Given the description of an element on the screen output the (x, y) to click on. 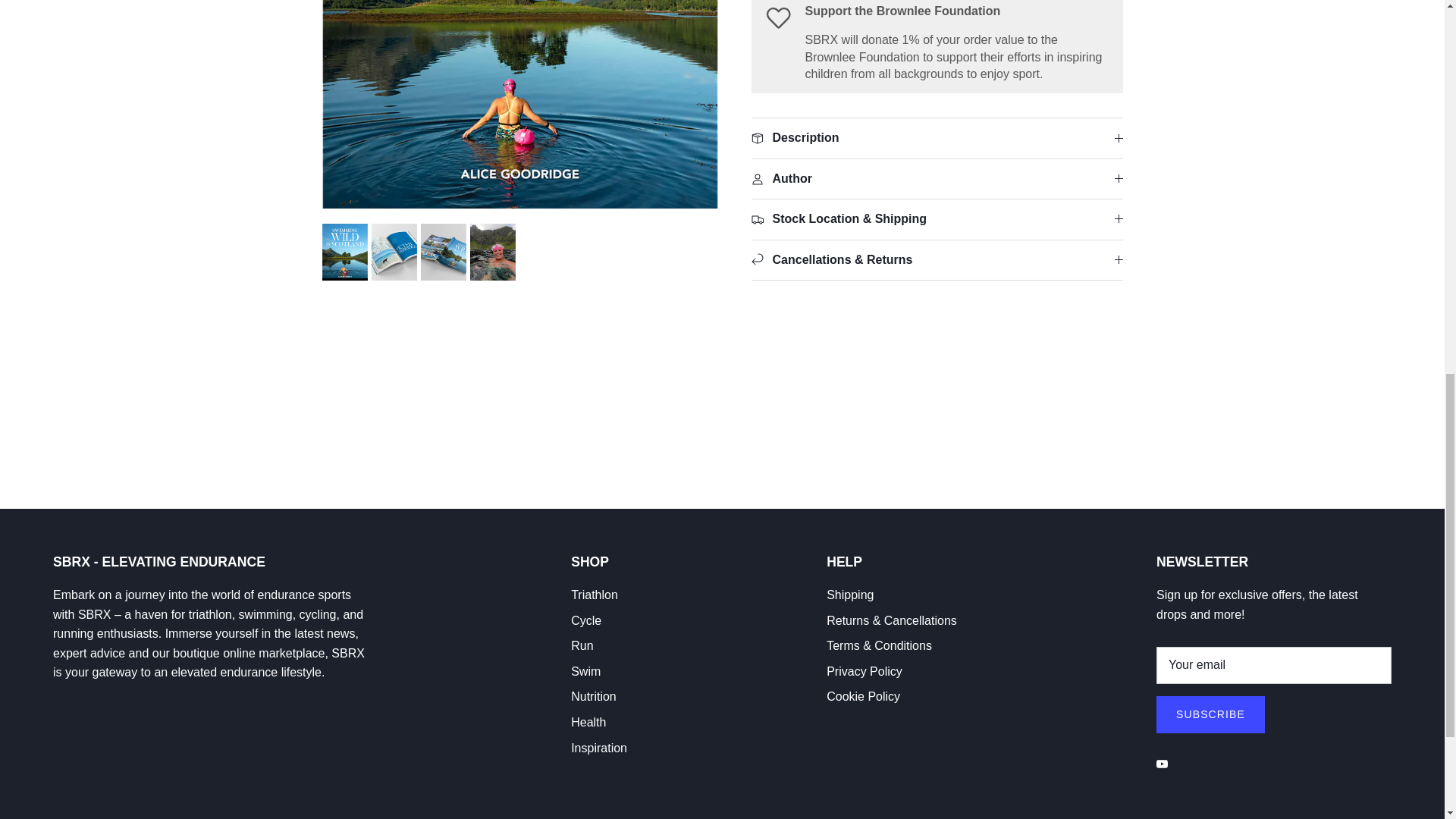
SBRX on YouTube (1161, 763)
